Given the description of an element on the screen output the (x, y) to click on. 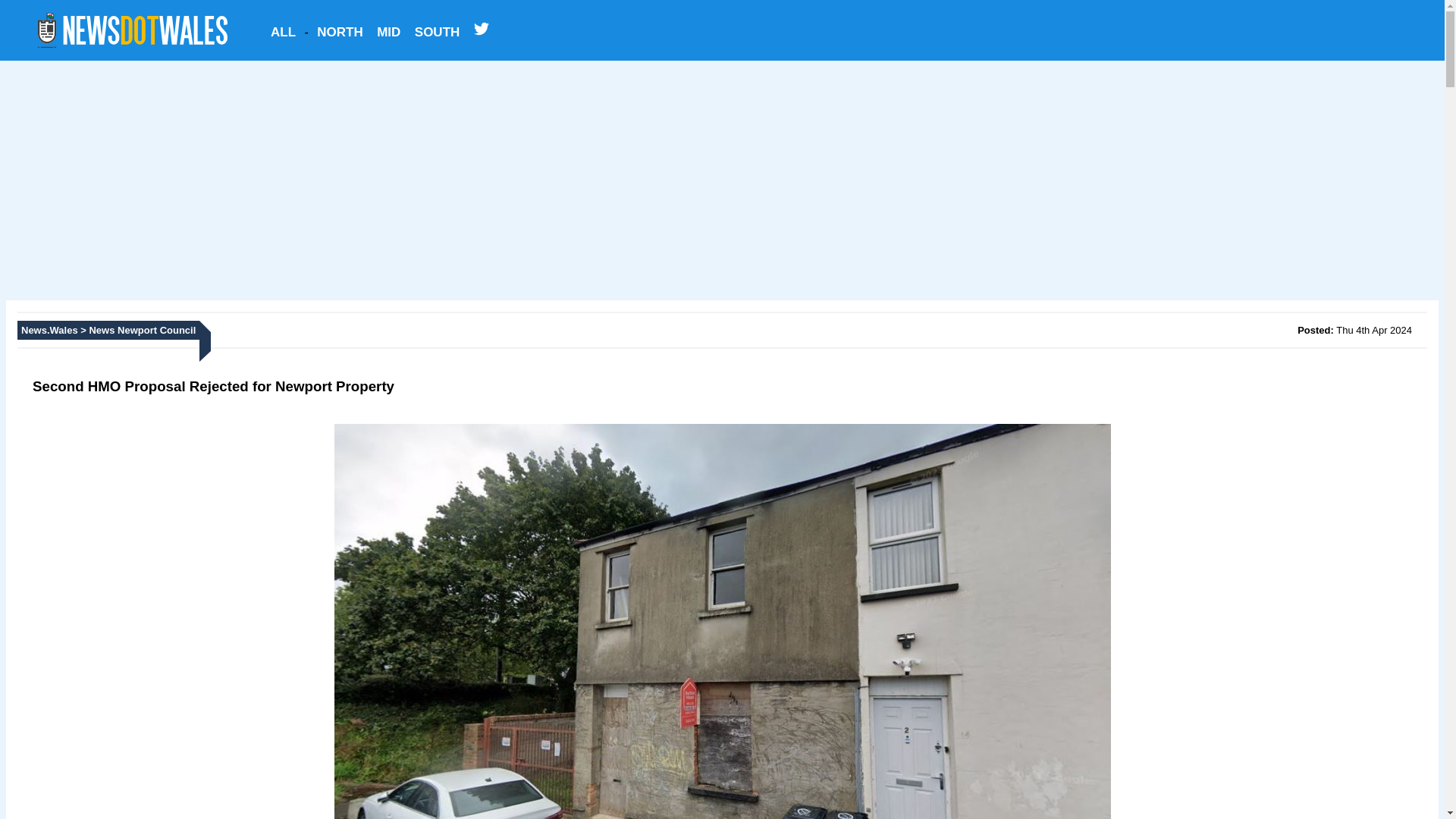
ALL (282, 31)
MID (388, 31)
SOUTH (437, 31)
NORTH (339, 31)
